Given the description of an element on the screen output the (x, y) to click on. 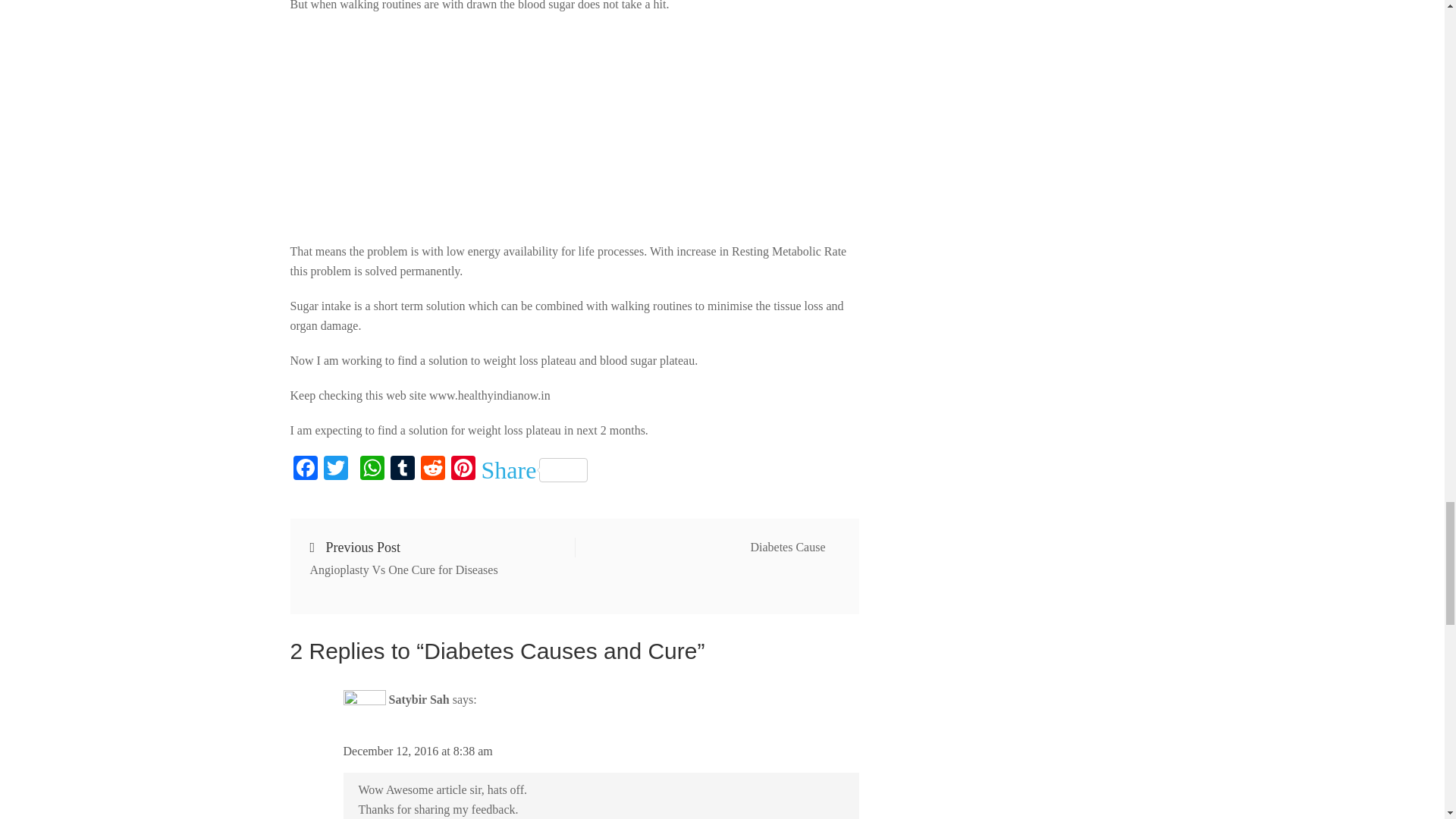
Reddit (431, 469)
Facebook (304, 469)
WhatsApp (371, 469)
Twitter (335, 469)
Pinterest (434, 558)
December 12, 2016 at 8:38 am (461, 469)
Tumblr (417, 750)
Share (401, 469)
